Given the description of an element on the screen output the (x, y) to click on. 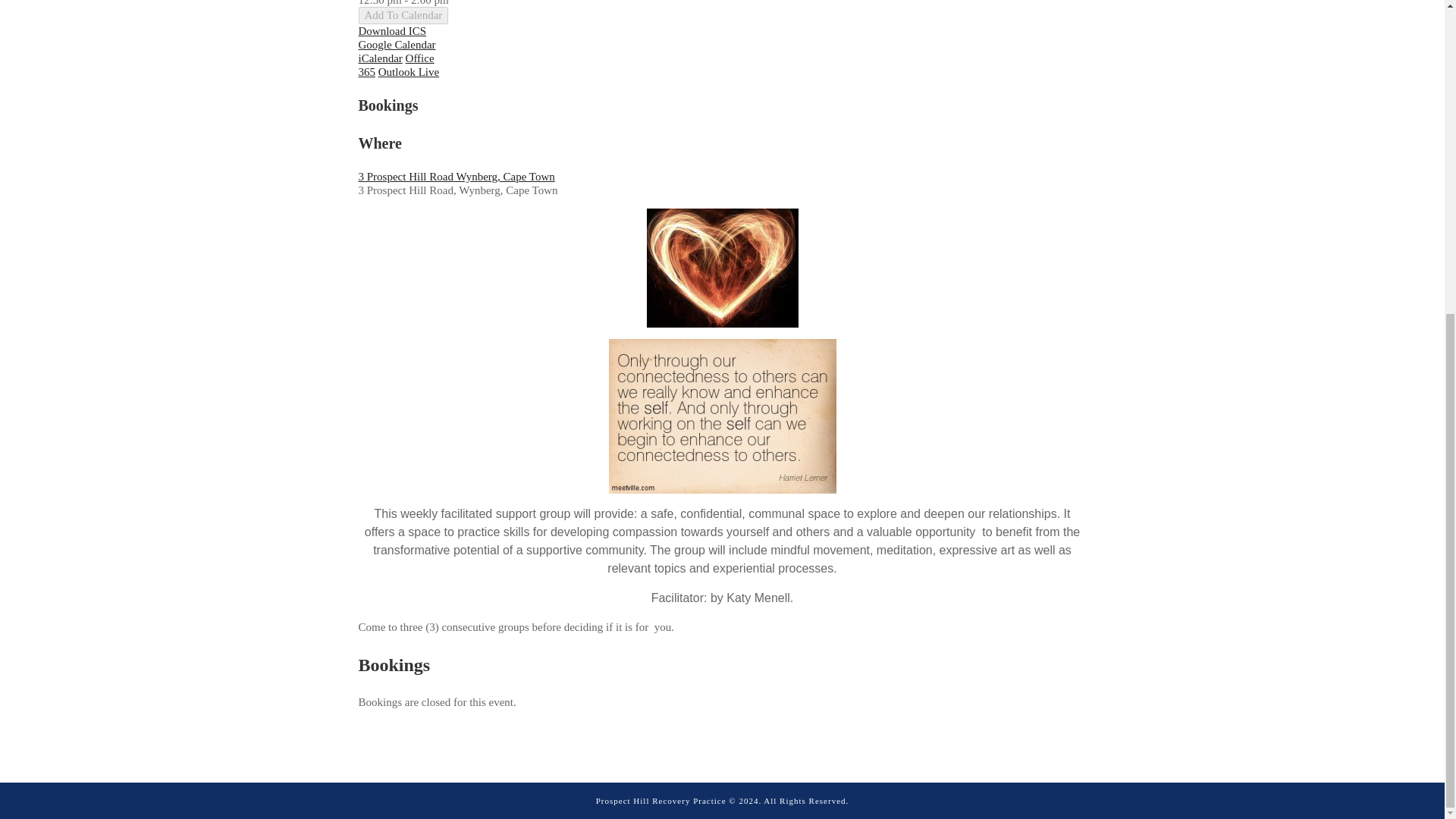
iCalendar (379, 58)
Add To Calendar (403, 15)
Download ICS (392, 30)
Outlook Live (408, 71)
Office 365 (395, 64)
3 Prospect Hill Road Wynberg, Cape Town (456, 176)
Google Calendar (396, 44)
